Given the description of an element on the screen output the (x, y) to click on. 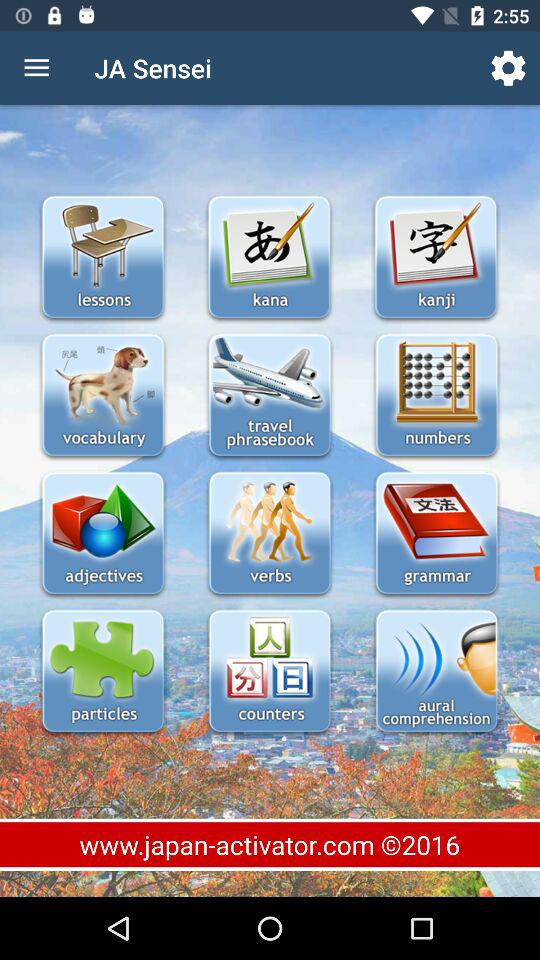
go to kana (269, 258)
